Given the description of an element on the screen output the (x, y) to click on. 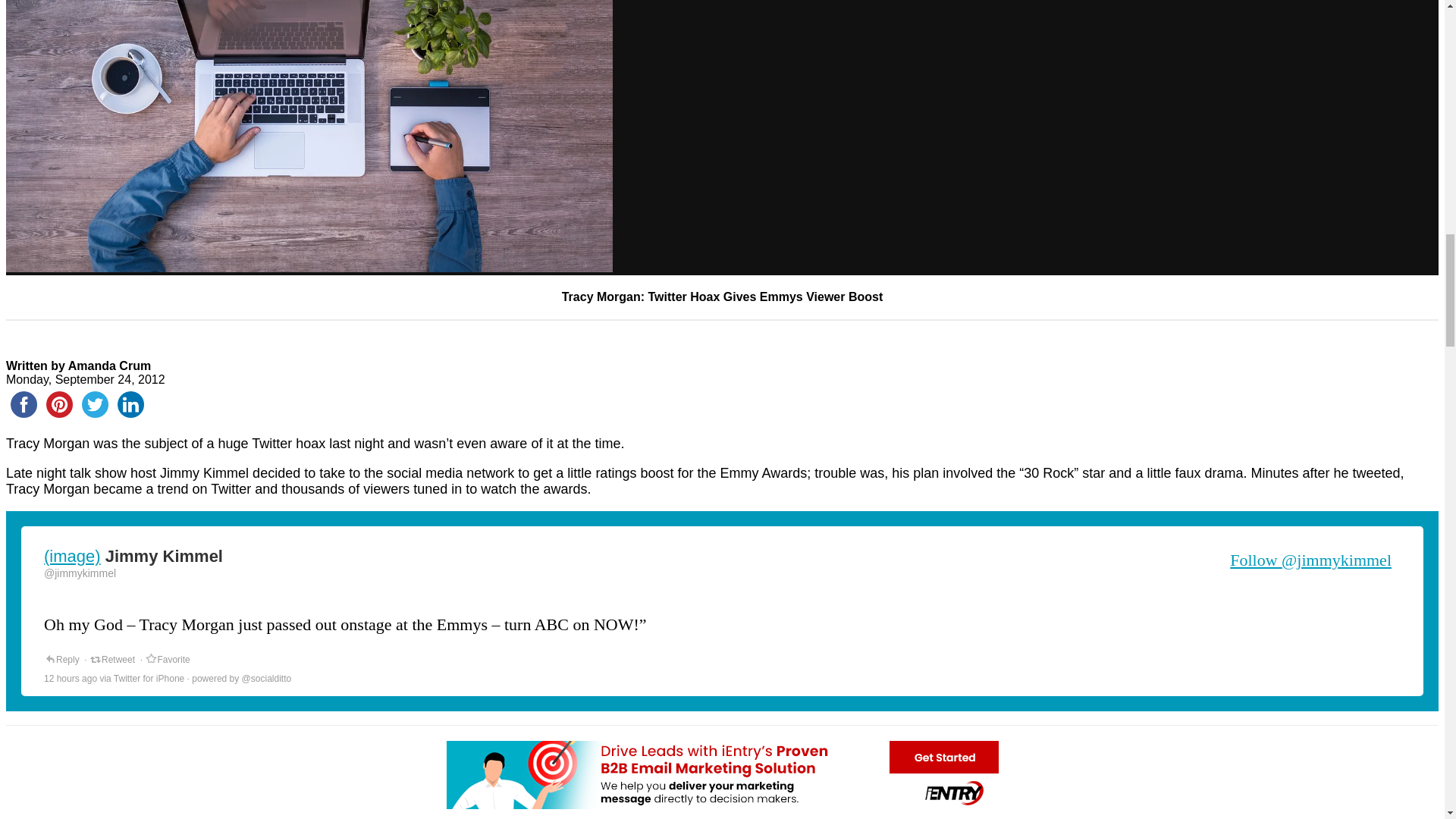
facebook (23, 404)
linkedin (130, 404)
pinterest (59, 404)
twitter (95, 404)
